Given the description of an element on the screen output the (x, y) to click on. 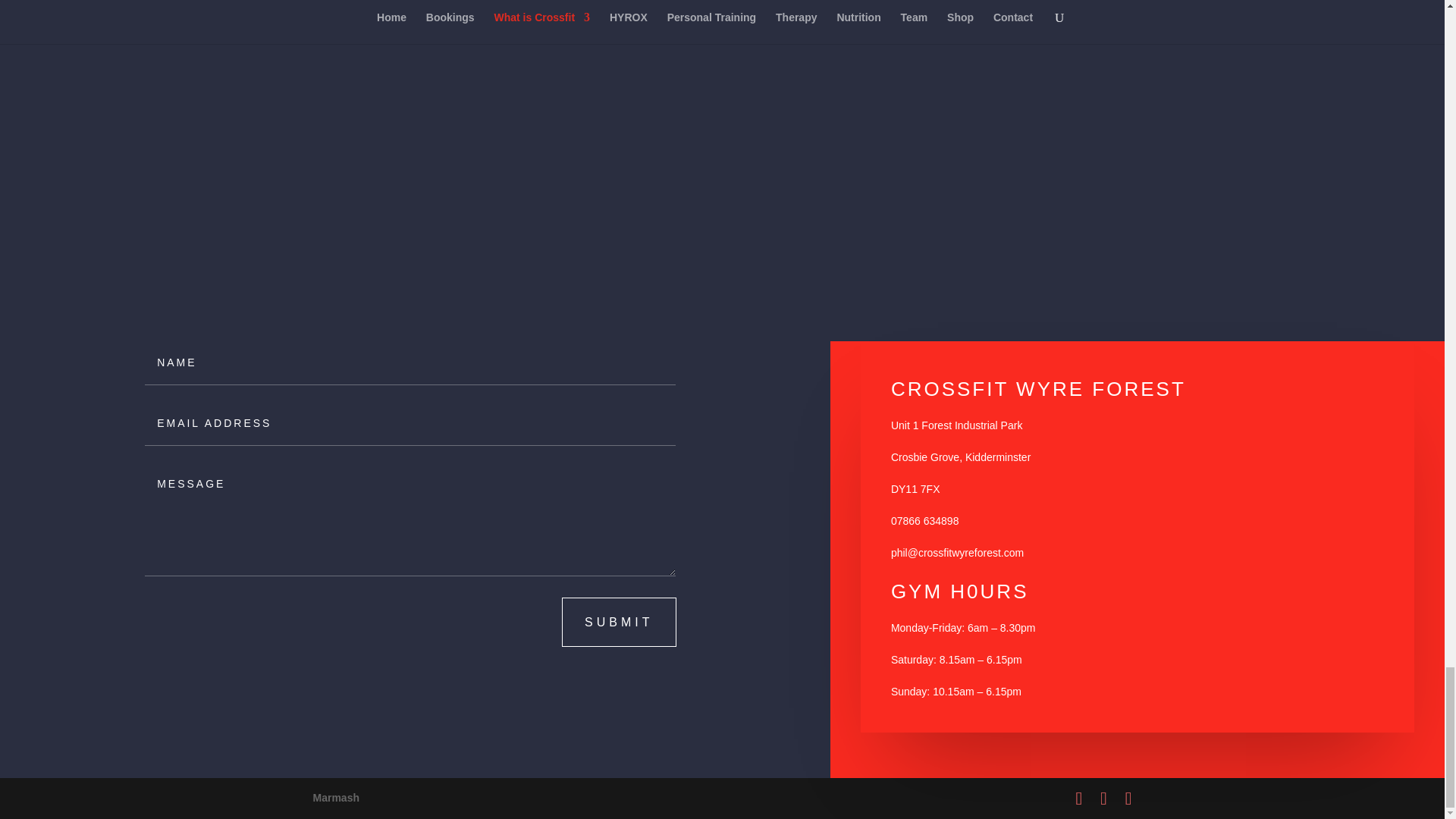
Marmash (335, 797)
Marmash (335, 797)
CrossFit Journal: The Performance-Based Lifestyle Resource (1069, 303)
SUBMIT (618, 622)
